Given the description of an element on the screen output the (x, y) to click on. 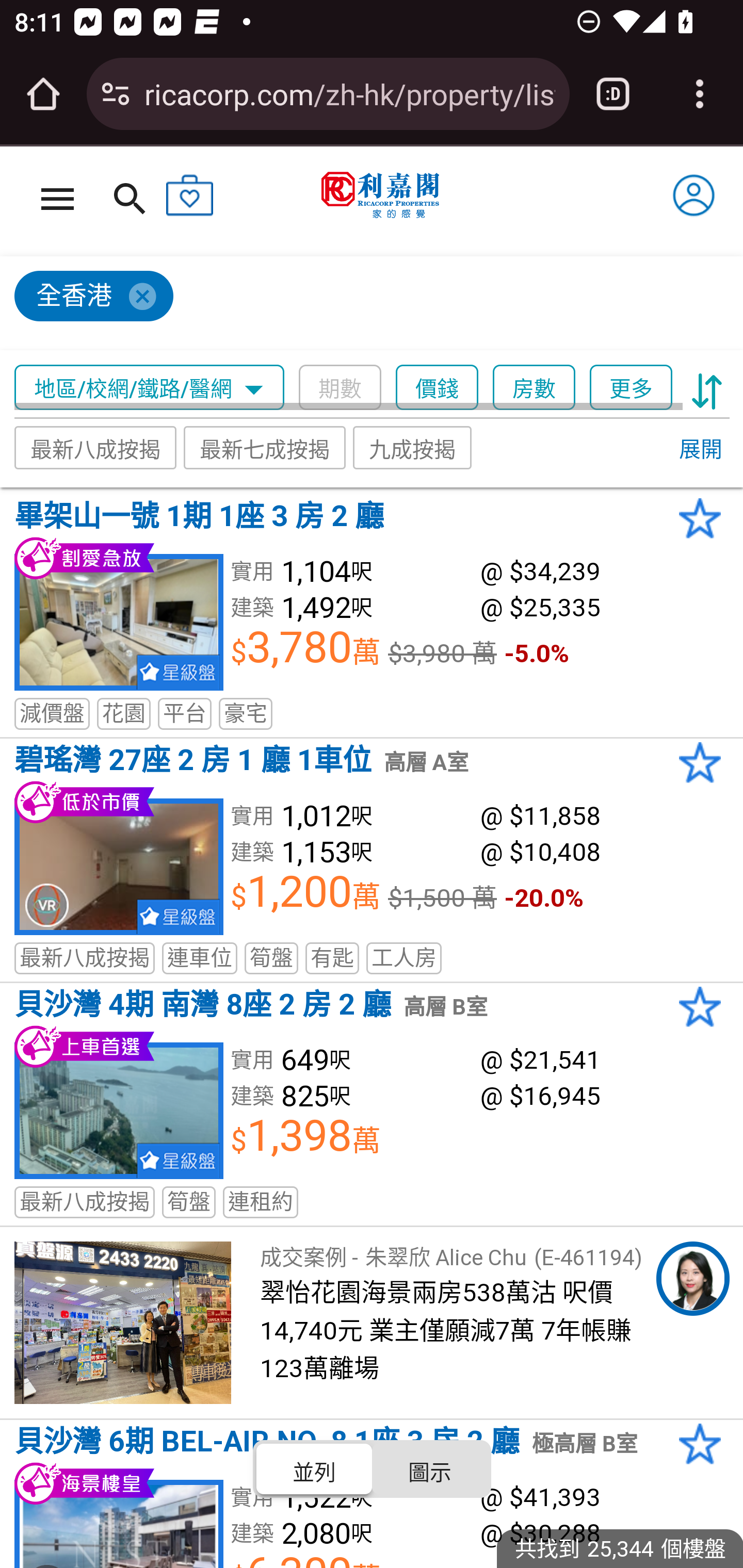
Open the home page (43, 93)
Connection is secure (115, 93)
Switch or close tabs (612, 93)
Customize and control Google Chrome (699, 93)
ricacorp.com/zh-hk/property/list/buy (349, 92)
全香港 (363, 304)
地區/校網/鐵路/醫網 (149, 387)
期數 (339, 387)
價錢 (436, 387)
房數 (533, 387)
更多 (630, 387)
sort (706, 387)
最新八成按揭 (95, 446)
最新七成按揭 (264, 446)
九成按揭 (412, 446)
並列 (314, 1468)
圖示 (429, 1468)
